Given the description of an element on the screen output the (x, y) to click on. 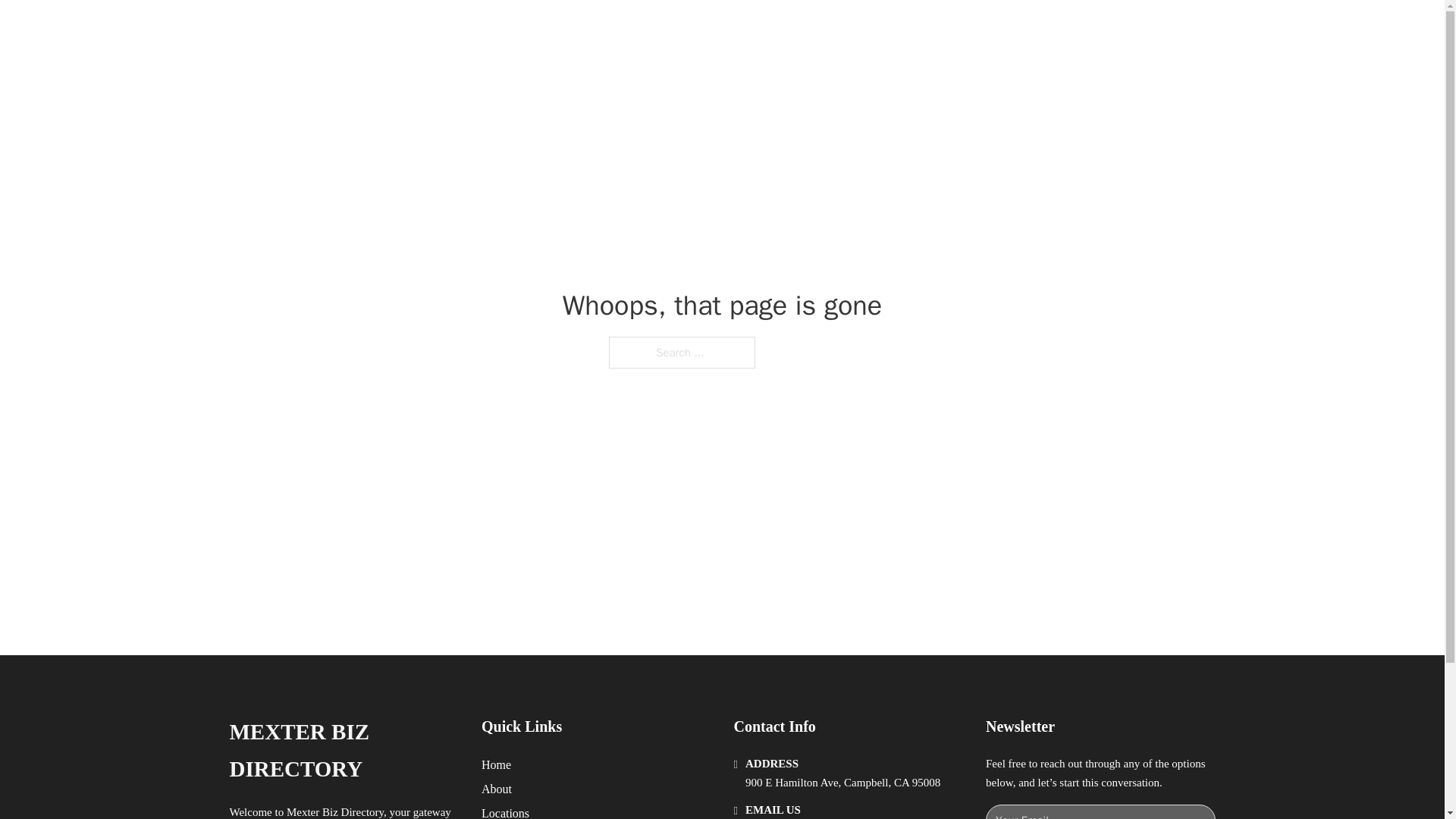
Home (496, 764)
HOME (907, 29)
MEXTER BIZ DIRECTORY (343, 750)
Locations (505, 811)
MEXTER BIZ DIRECTORY (429, 28)
LOCATIONS (978, 29)
About (496, 788)
